Given the description of an element on the screen output the (x, y) to click on. 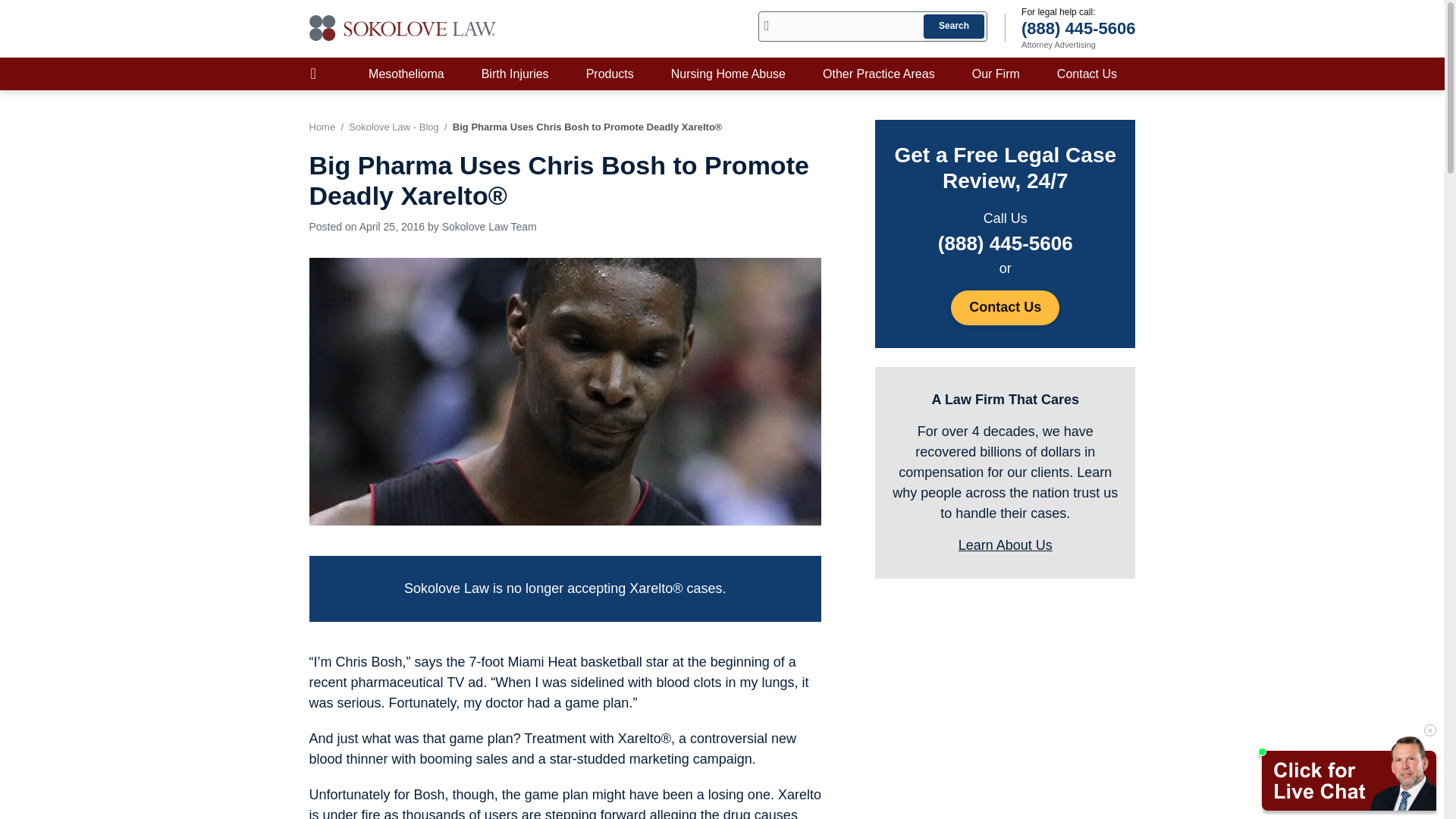
Birth Injuries (515, 73)
Mesothelioma (406, 73)
Mesothelioma (406, 73)
Search (953, 26)
Sokolove Law (402, 27)
Search SokoloveLaw.com (872, 26)
